Given the description of an element on the screen output the (x, y) to click on. 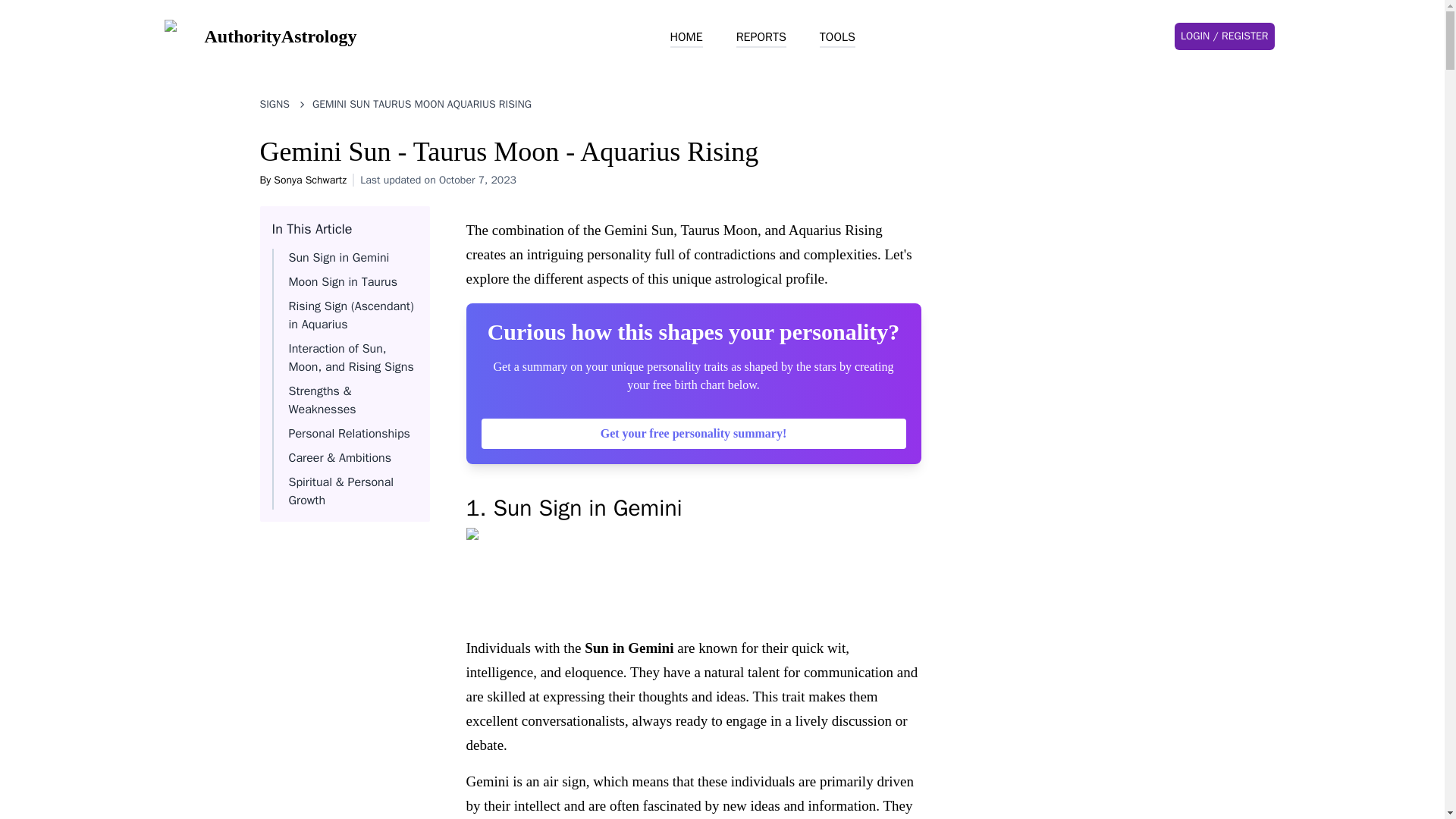
Interaction of Sun, Moon, and Rising Signs (350, 357)
TOOLS (837, 37)
REPORTS (761, 37)
GEMINI SUN TAURUS MOON AQUARIUS RISING (422, 104)
Sun Sign in Gemini (338, 257)
Sonya Schwartz (309, 179)
Get your free personality summary! (692, 433)
Personal Relationships (348, 433)
Moon Sign in Taurus (342, 281)
AuthorityAstrology (259, 36)
